Given the description of an element on the screen output the (x, y) to click on. 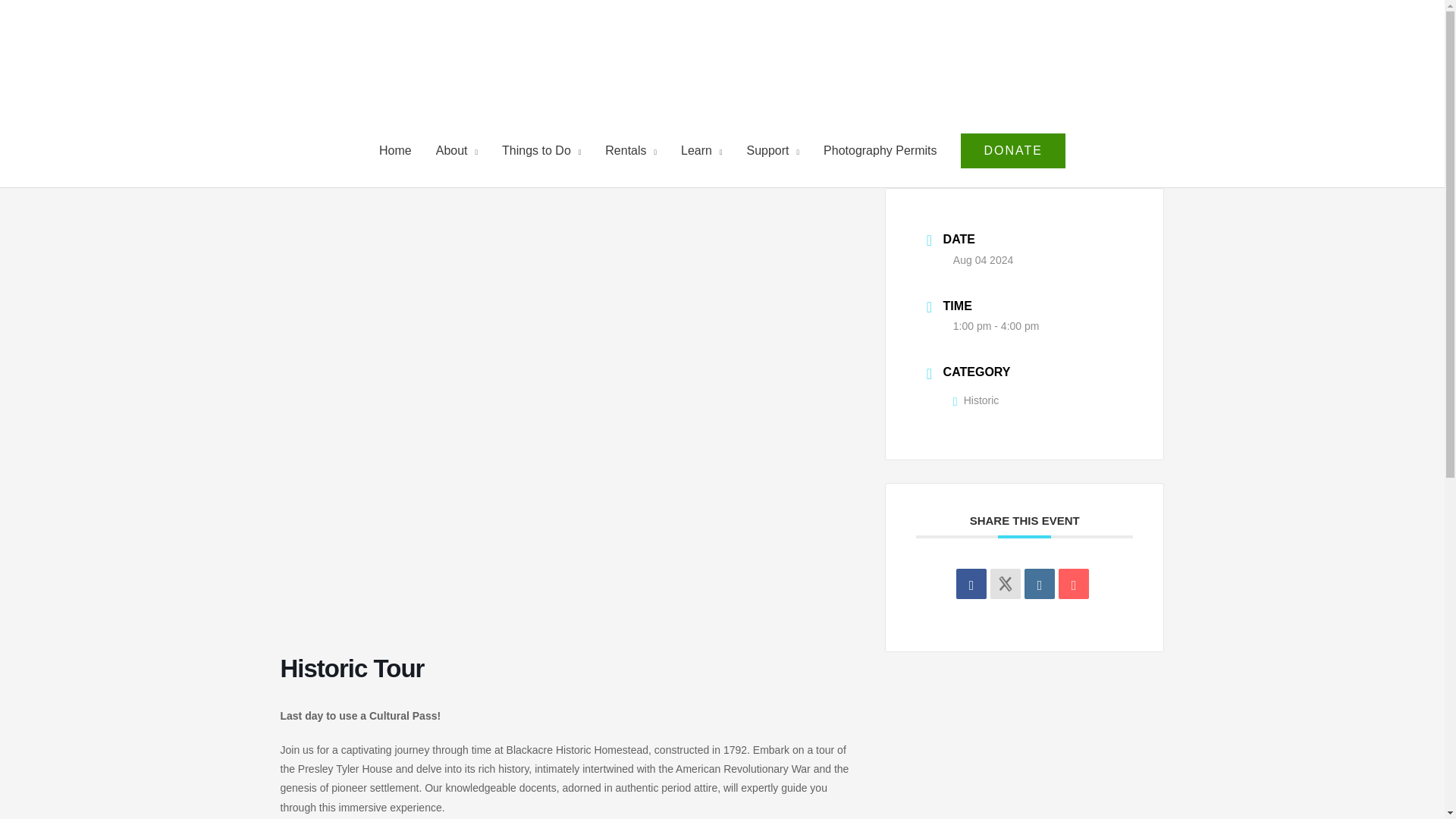
Historic (975, 399)
About (456, 150)
Learn (700, 150)
Photography Permits (879, 150)
Things to Do (540, 150)
Rentals (630, 150)
Linkedin (1039, 583)
Email (1073, 583)
Home (394, 150)
DONATE (1012, 150)
